Given the description of an element on the screen output the (x, y) to click on. 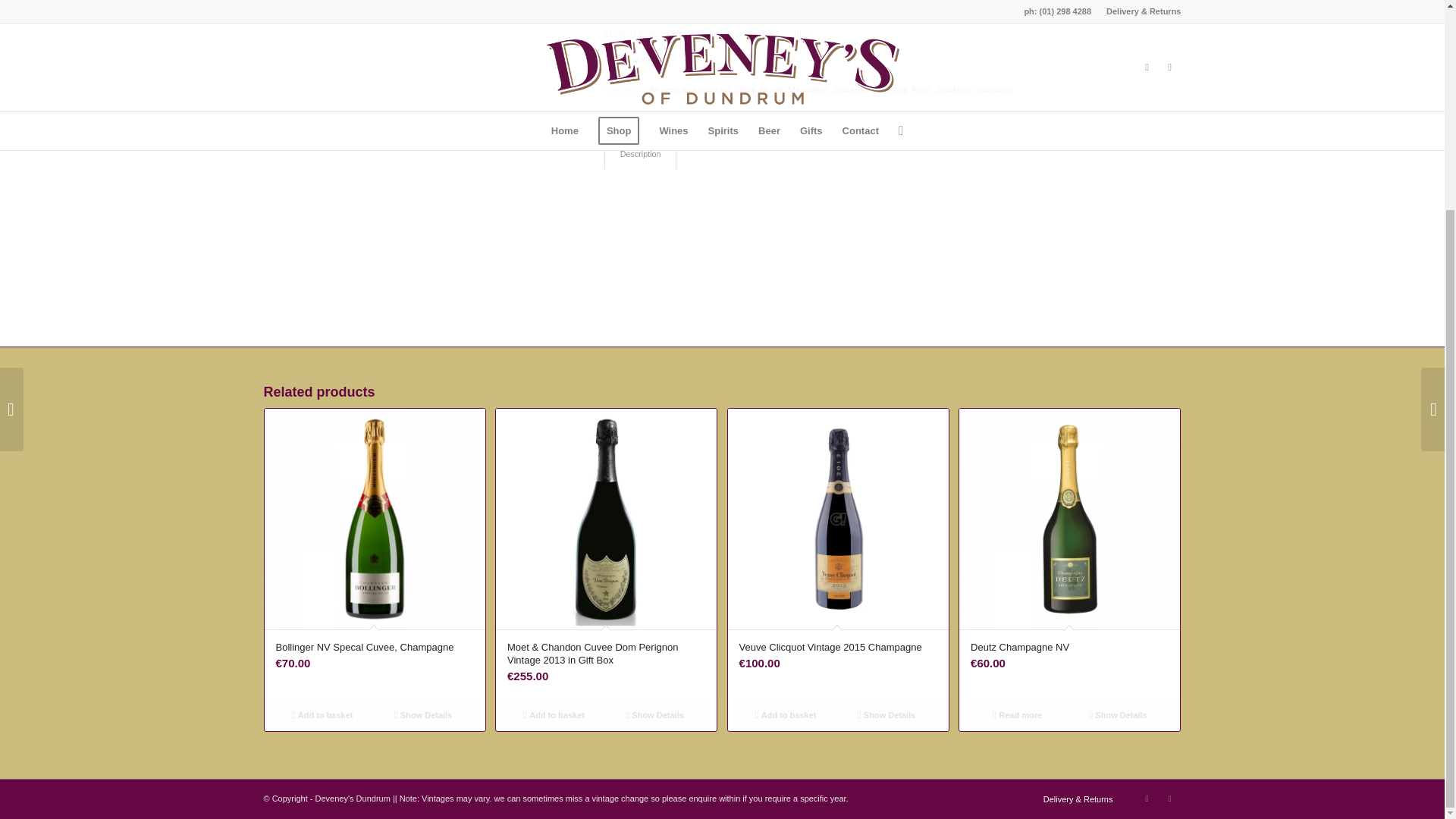
Instagram (1146, 798)
Twitter (1169, 798)
